Given the description of an element on the screen output the (x, y) to click on. 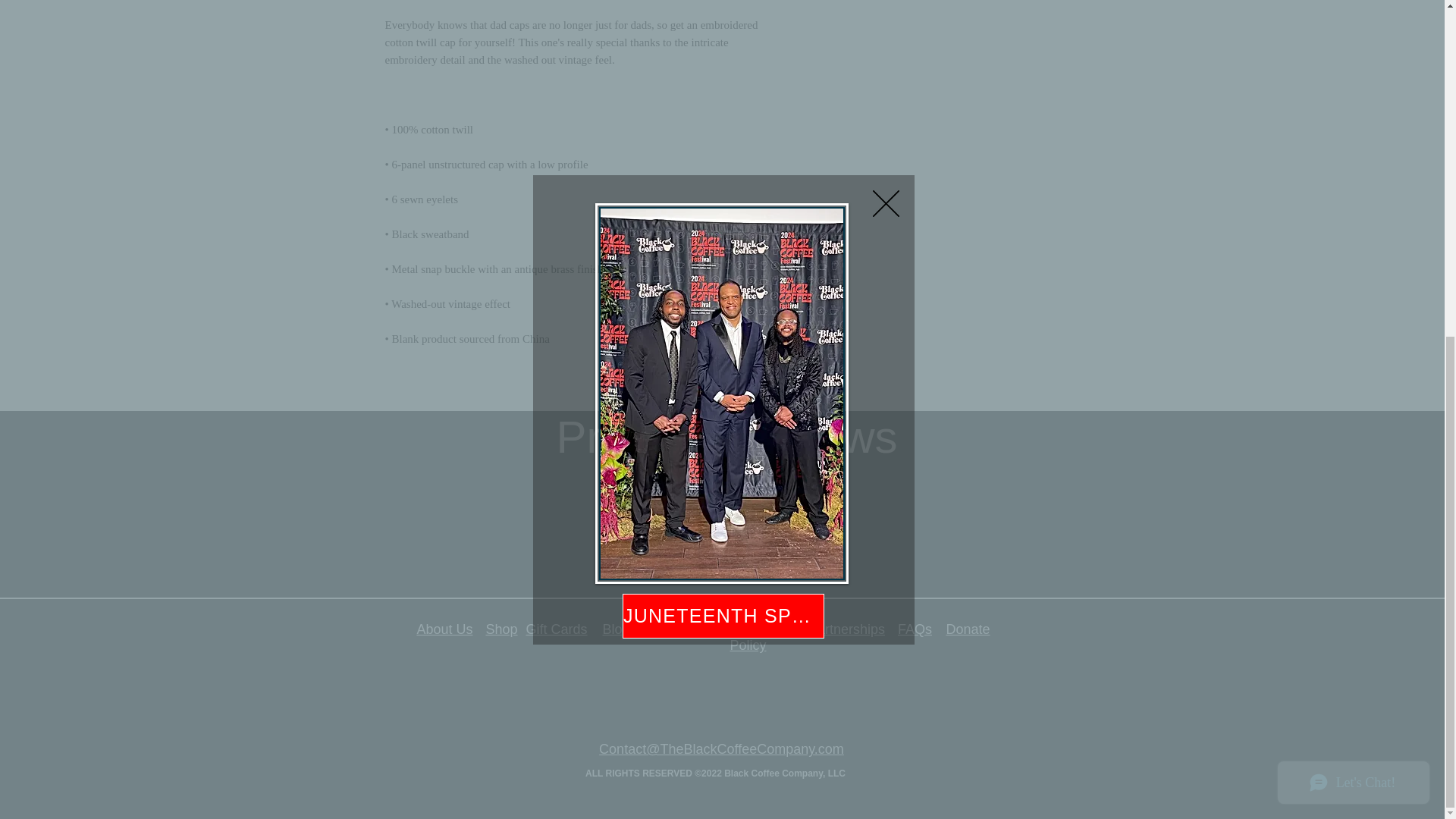
Contact (663, 629)
JUNETEENTH SPECIAL (723, 48)
About Us (443, 629)
Donate (967, 629)
Write A Review (721, 488)
Blog (615, 629)
Shop (500, 629)
Partnerships (846, 629)
FAQs (914, 629)
Privacy Policy (747, 636)
Gift Cards (555, 629)
